Given the description of an element on the screen output the (x, y) to click on. 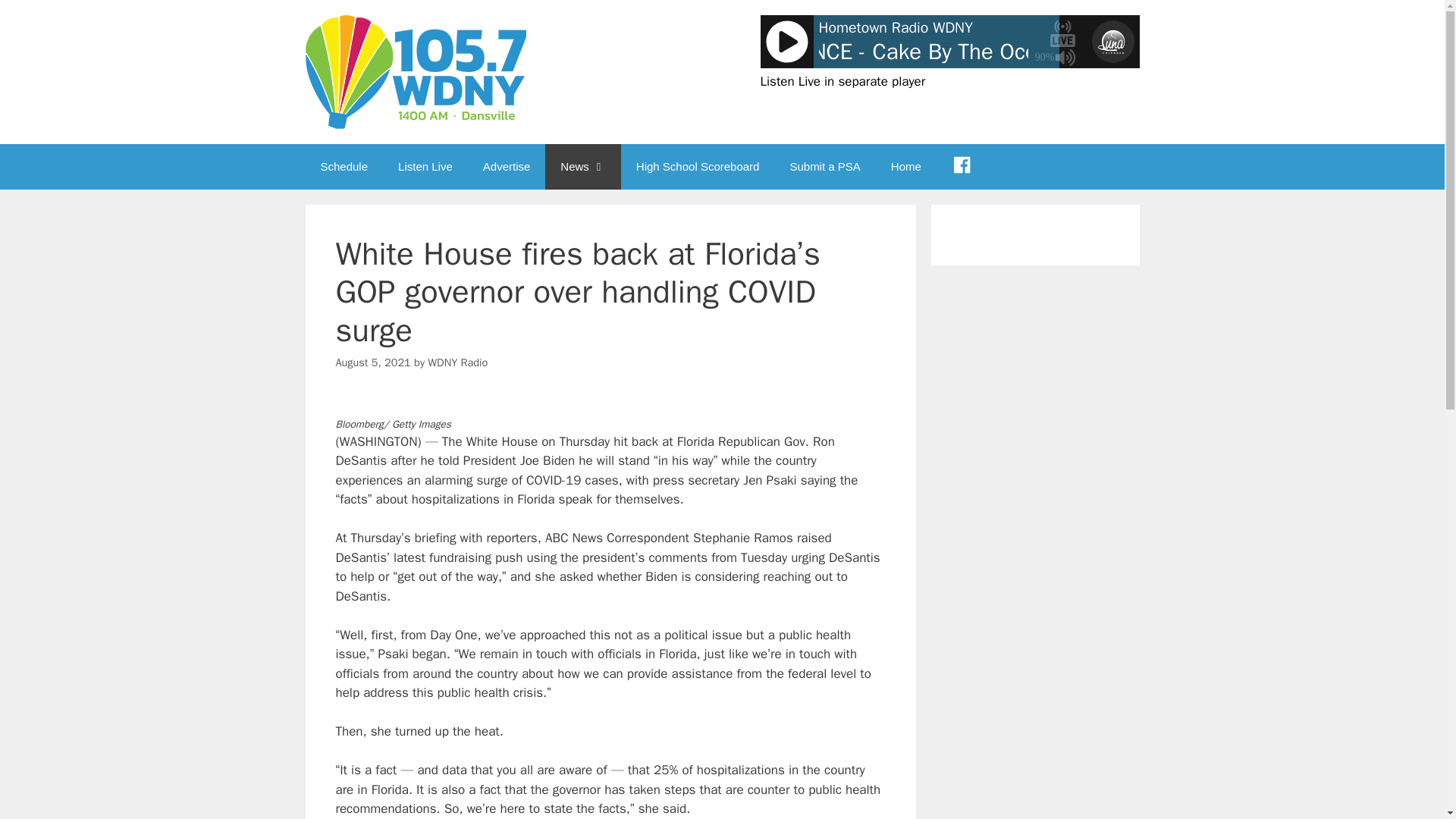
Menu Item (961, 166)
WDNY Radio (457, 362)
News (582, 166)
Advertise (506, 166)
Schedule (343, 166)
View all posts by WDNY Radio (457, 362)
Listen Live (424, 166)
Home (906, 166)
Listen Live in separate player (842, 81)
Submit a PSA (824, 166)
High School Scoreboard (697, 166)
